Given the description of an element on the screen output the (x, y) to click on. 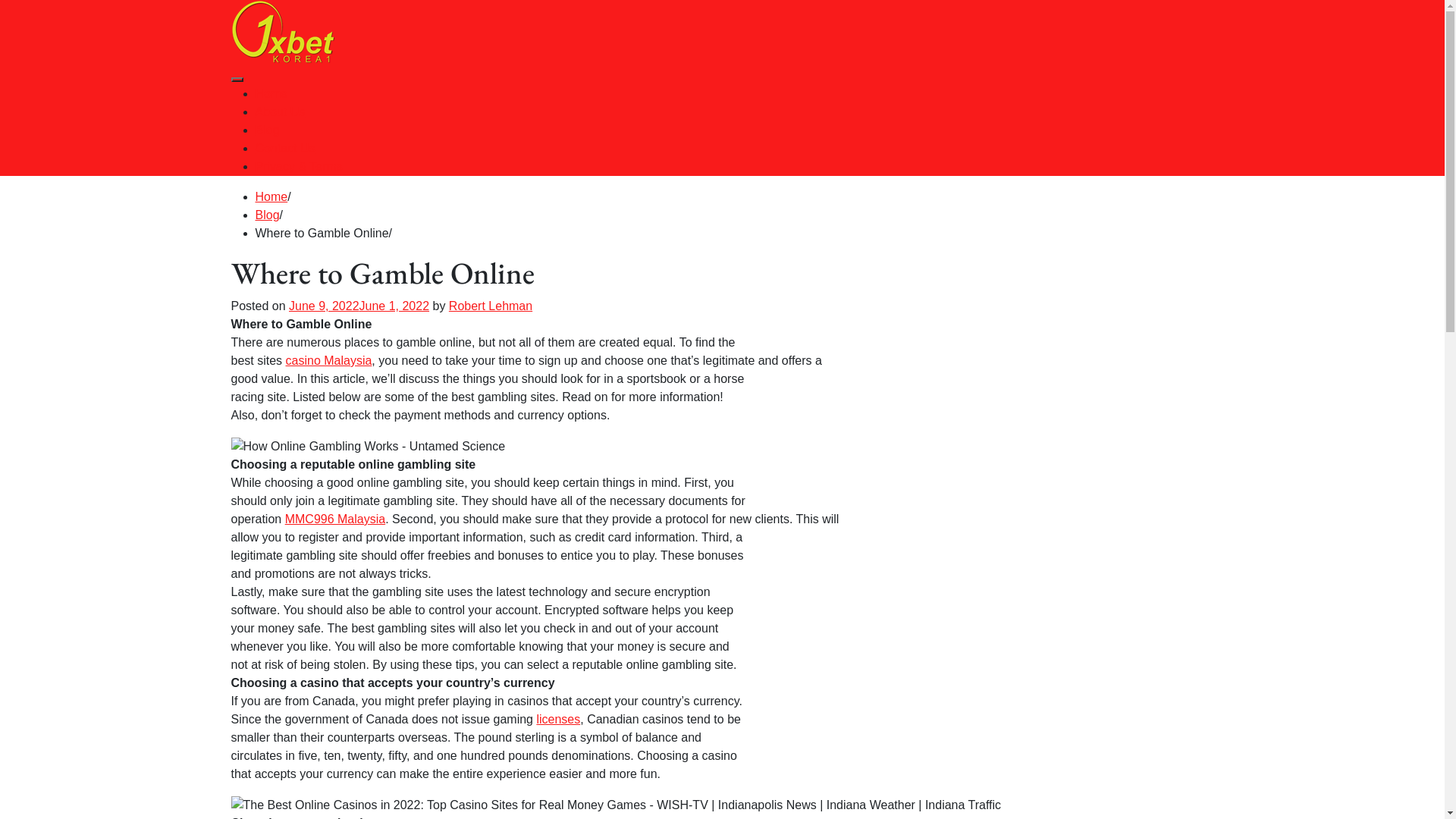
MMC996 Malaysia Element type: text (335, 518)
1 Xbet Korea1 Element type: text (263, 75)
Privacy & Terms Element type: text (298, 166)
June 9, 2022June 1, 2022 Element type: text (358, 305)
Blog Element type: text (266, 129)
Home Element type: text (270, 93)
About Us Element type: text (279, 111)
Home Element type: text (270, 196)
Contact Us Element type: text (284, 147)
Blog Element type: text (266, 214)
Robert Lehman Element type: text (490, 305)
casino Malaysia Element type: text (328, 360)
licenses Element type: text (558, 718)
